Given the description of an element on the screen output the (x, y) to click on. 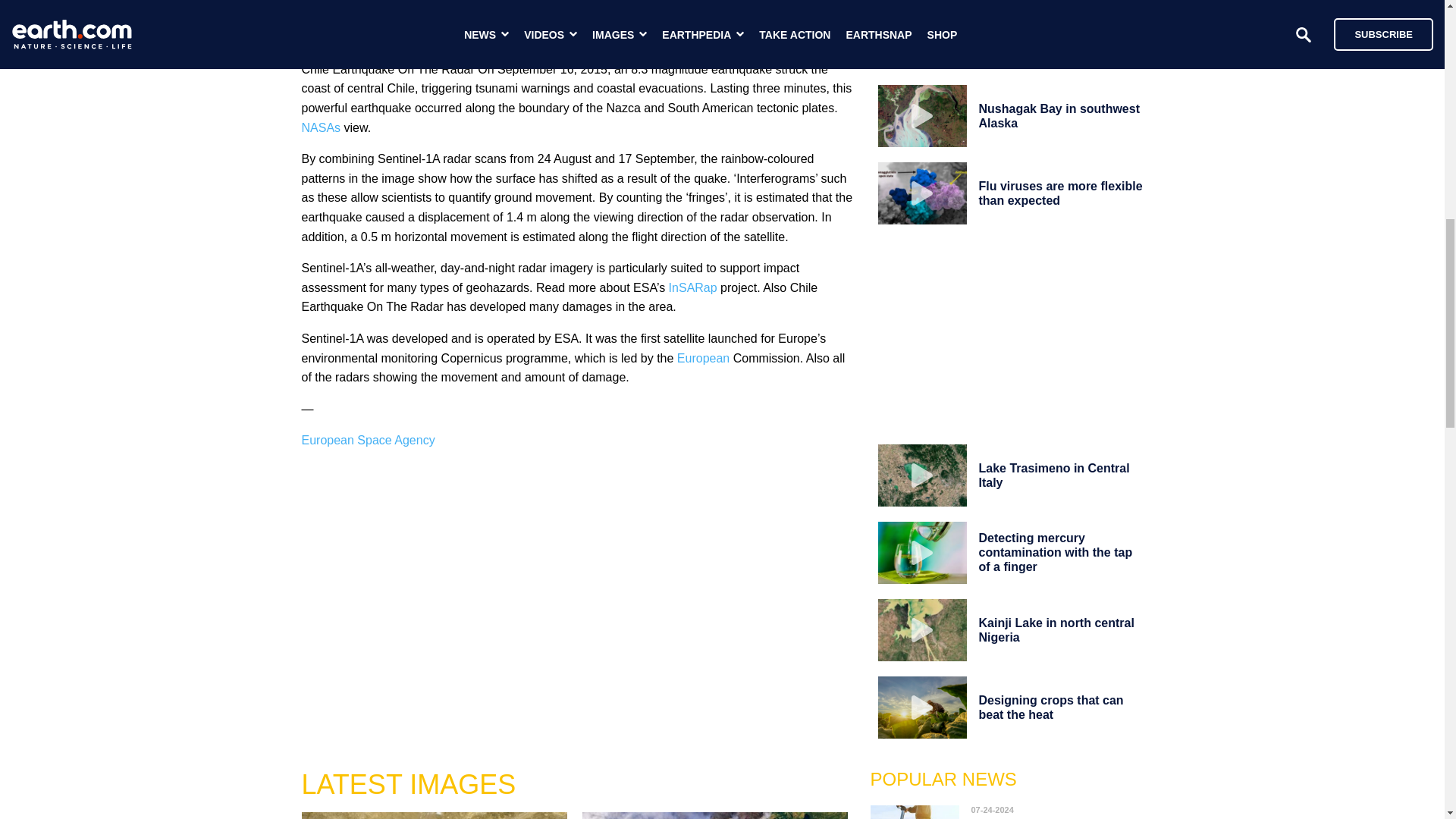
Flu viruses are more flexible than expected (1059, 192)
Lake Trasimeno in Central Italy (1053, 474)
NASAs (320, 127)
Nushagak Bay in southwest Alaska (1059, 114)
Detecting mercury contamination with the tap of a finger (1055, 552)
European Space Agency (368, 440)
InSARap (692, 287)
European (703, 358)
Designing crops that can beat the heat (1050, 706)
Kainji Lake in north central Nigeria (1056, 628)
